Given the description of an element on the screen output the (x, y) to click on. 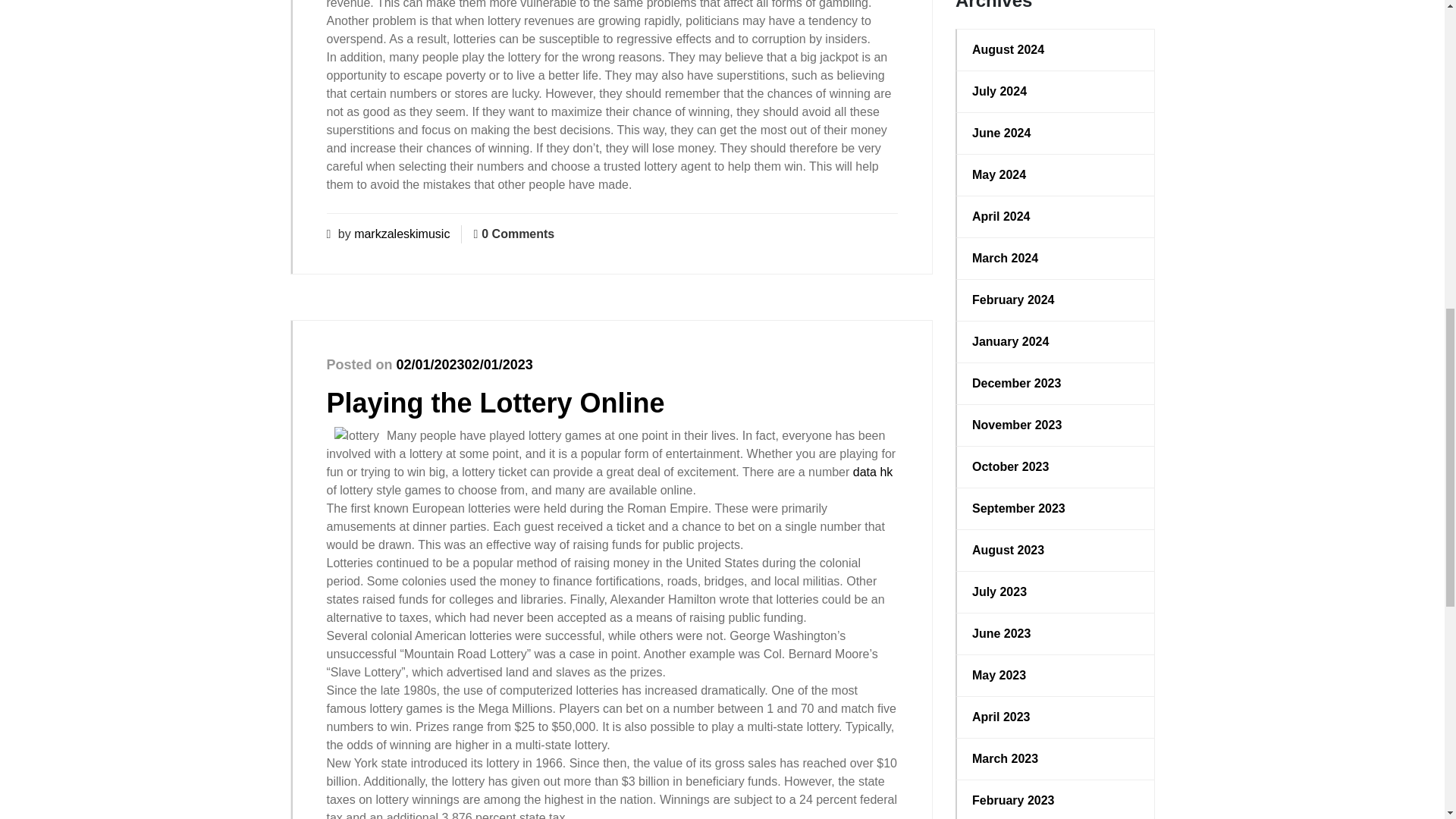
July 2023 (1055, 592)
September 2023 (1055, 508)
June 2023 (1055, 633)
February 2023 (1055, 800)
data hk (872, 472)
June 2024 (1055, 133)
March 2024 (1055, 258)
March 2023 (1055, 759)
May 2023 (1055, 675)
August 2024 (1055, 49)
